Given the description of an element on the screen output the (x, y) to click on. 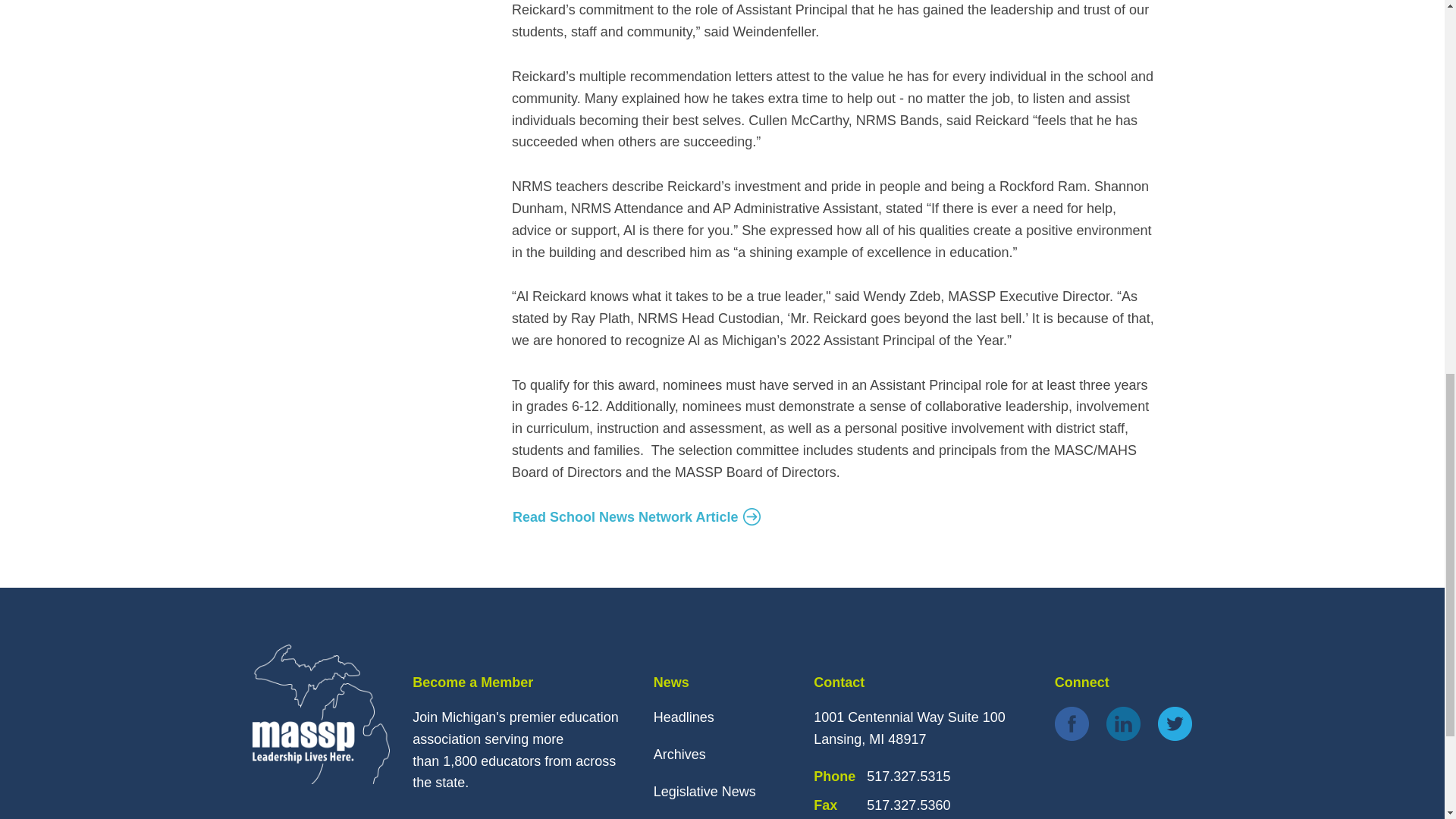
Read School News Network Article (636, 516)
Legislative News (704, 791)
Headlines (683, 717)
Archives (679, 754)
